Given the description of an element on the screen output the (x, y) to click on. 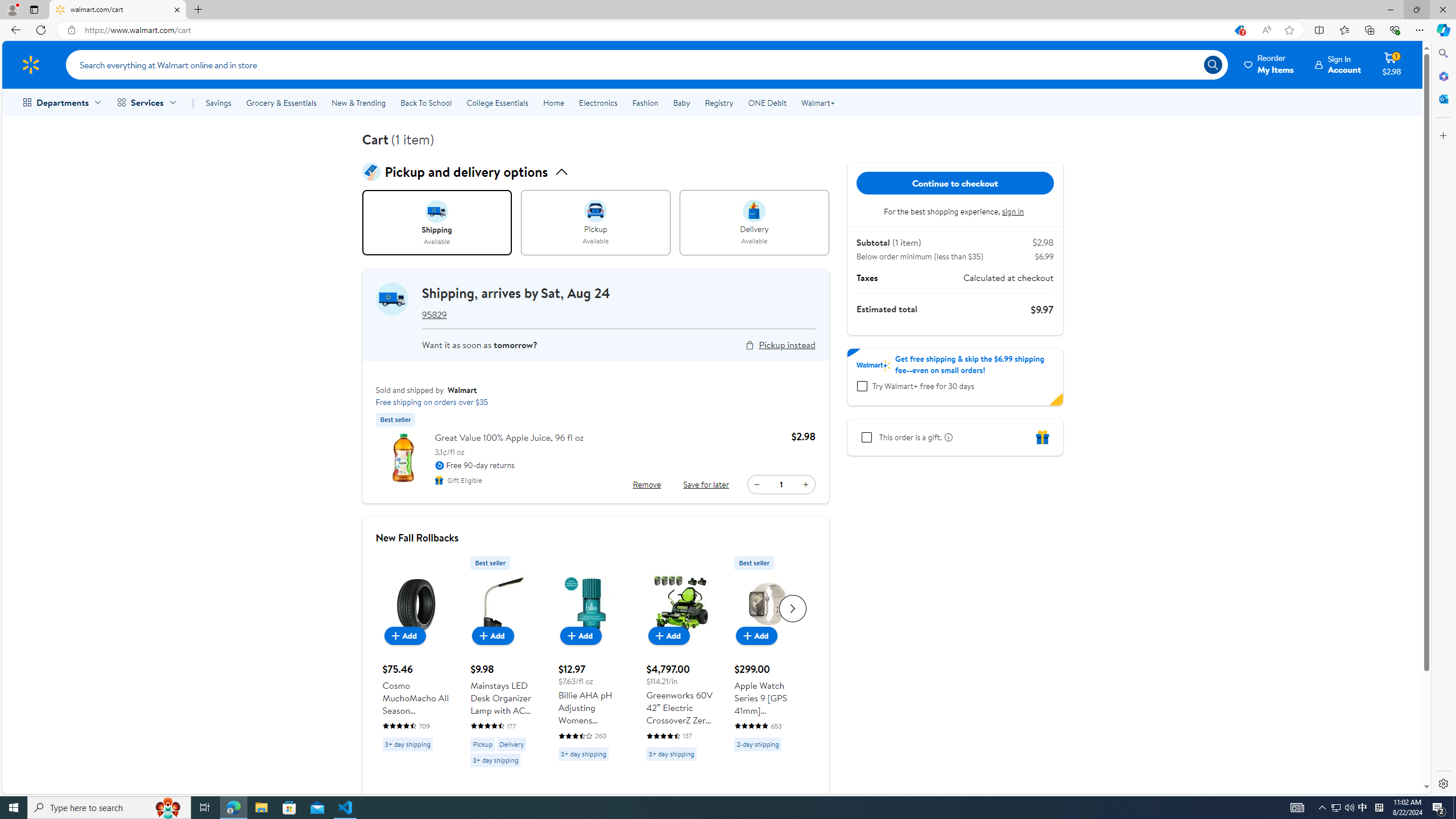
intent image for delivery (753, 210)
Fashion (644, 102)
95829 (433, 314)
Cart contains 1 item Total Amount $2.98 (1391, 64)
Back To School (425, 102)
Sign In Account (1338, 64)
